Given the description of an element on the screen output the (x, y) to click on. 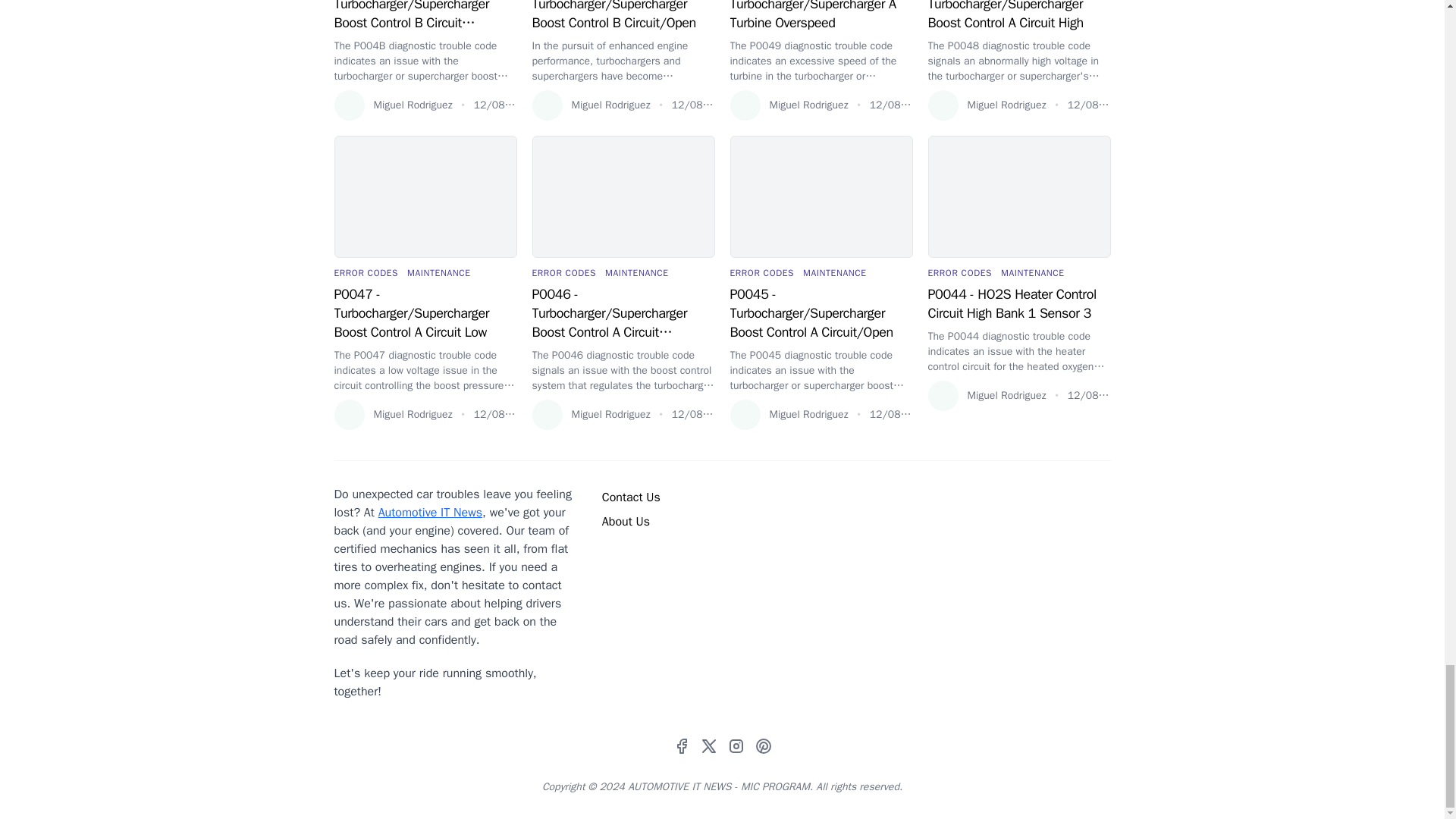
Miguel Rodriguez (392, 105)
